Given the description of an element on the screen output the (x, y) to click on. 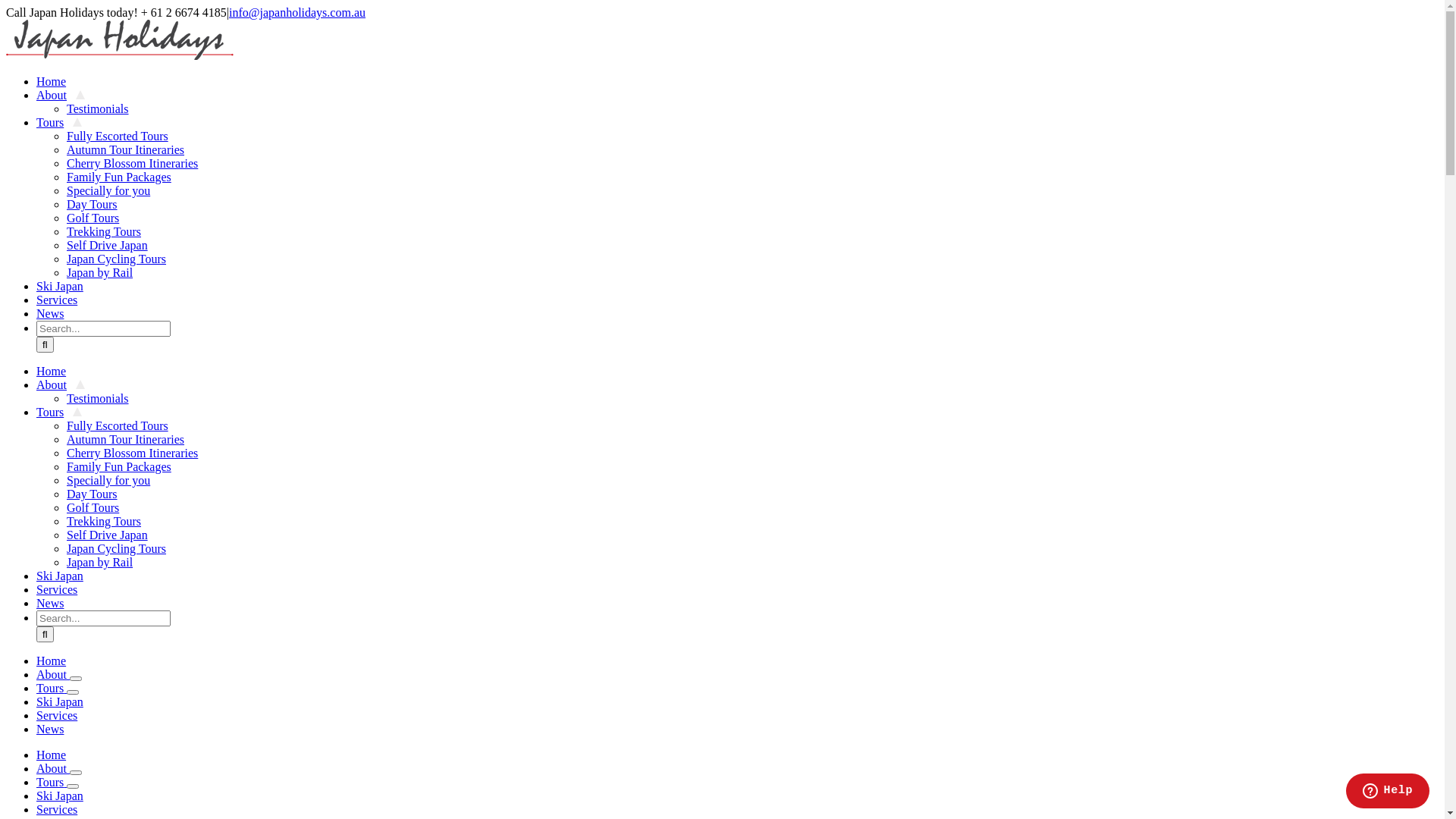
Home Element type: text (55, 370)
News Element type: text (49, 728)
About Element type: text (60, 384)
Services Element type: text (61, 299)
Self Drive Japan Element type: text (106, 244)
Cherry Blossom Itineraries Element type: text (131, 162)
About Element type: text (52, 674)
Autumn Tour Itineraries Element type: text (125, 149)
Family Fun Packages Element type: text (118, 176)
Services Element type: text (61, 589)
Testimonials Element type: text (97, 398)
Ski Japan Element type: text (59, 795)
Fully Escorted Tours Element type: text (117, 135)
Specially for you Element type: text (108, 479)
Tours Element type: text (51, 687)
Tours Element type: text (58, 122)
Trekking Tours Element type: text (103, 520)
Self Drive Japan Element type: text (106, 534)
Home Element type: text (50, 660)
Opens a widget where you can chat to one of our agents Element type: hover (1387, 792)
Fully Escorted Tours Element type: text (117, 425)
Testimonials Element type: text (97, 108)
Cherry Blossom Itineraries Element type: text (131, 452)
Japan by Rail Element type: text (99, 561)
Trekking Tours Element type: text (103, 231)
Autumn Tour Itineraries Element type: text (125, 439)
Family Fun Packages Element type: text (118, 466)
Japan Cycling Tours Element type: text (116, 548)
Japan by Rail Element type: text (99, 272)
Ski Japan Element type: text (59, 701)
Tours Element type: text (51, 781)
Tours Element type: text (58, 411)
Japan Cycling Tours Element type: text (116, 258)
Home Element type: text (50, 754)
Day Tours Element type: text (91, 203)
Home Element type: text (55, 81)
Ski Japan Element type: text (64, 575)
Services Element type: text (56, 809)
Golf Tours Element type: text (92, 507)
News Element type: text (54, 602)
Ski Japan Element type: text (64, 285)
Golf Tours Element type: text (92, 217)
Skip to content Element type: text (5, 5)
About Element type: text (52, 768)
Day Tours Element type: text (91, 493)
Specially for you Element type: text (108, 190)
Services Element type: text (56, 715)
News Element type: text (54, 313)
info@japanholidays.com.au Element type: text (297, 12)
About Element type: text (60, 94)
